Given the description of an element on the screen output the (x, y) to click on. 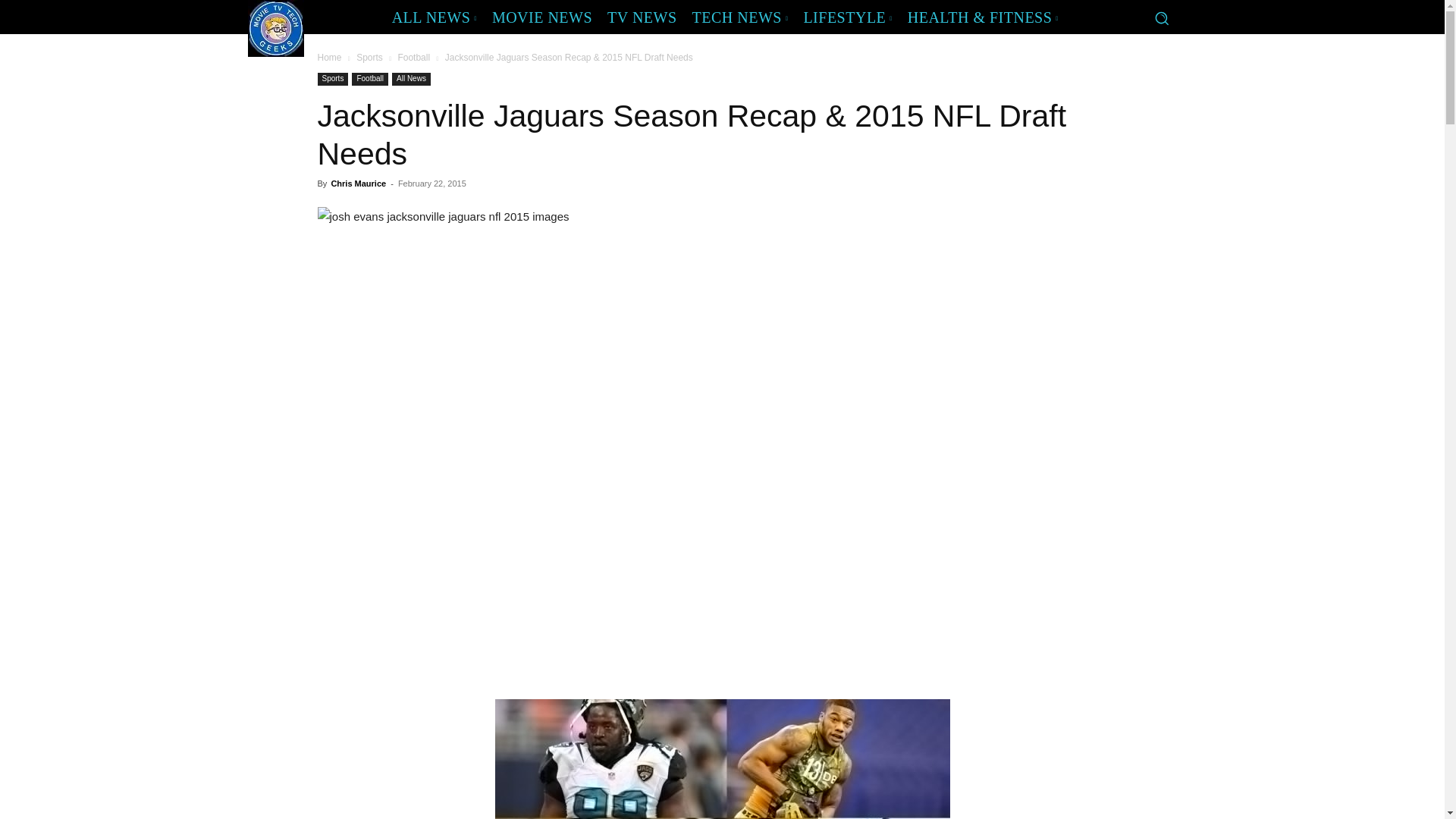
LIFESTYLE (846, 17)
View all posts in Football (413, 57)
View all posts in Sports (369, 57)
Sports (369, 57)
Football (370, 78)
MOVIE NEWS (541, 17)
Chris Maurice (357, 183)
Movie TV Tech Geeks News Logo (274, 28)
Football (413, 57)
